Given the description of an element on the screen output the (x, y) to click on. 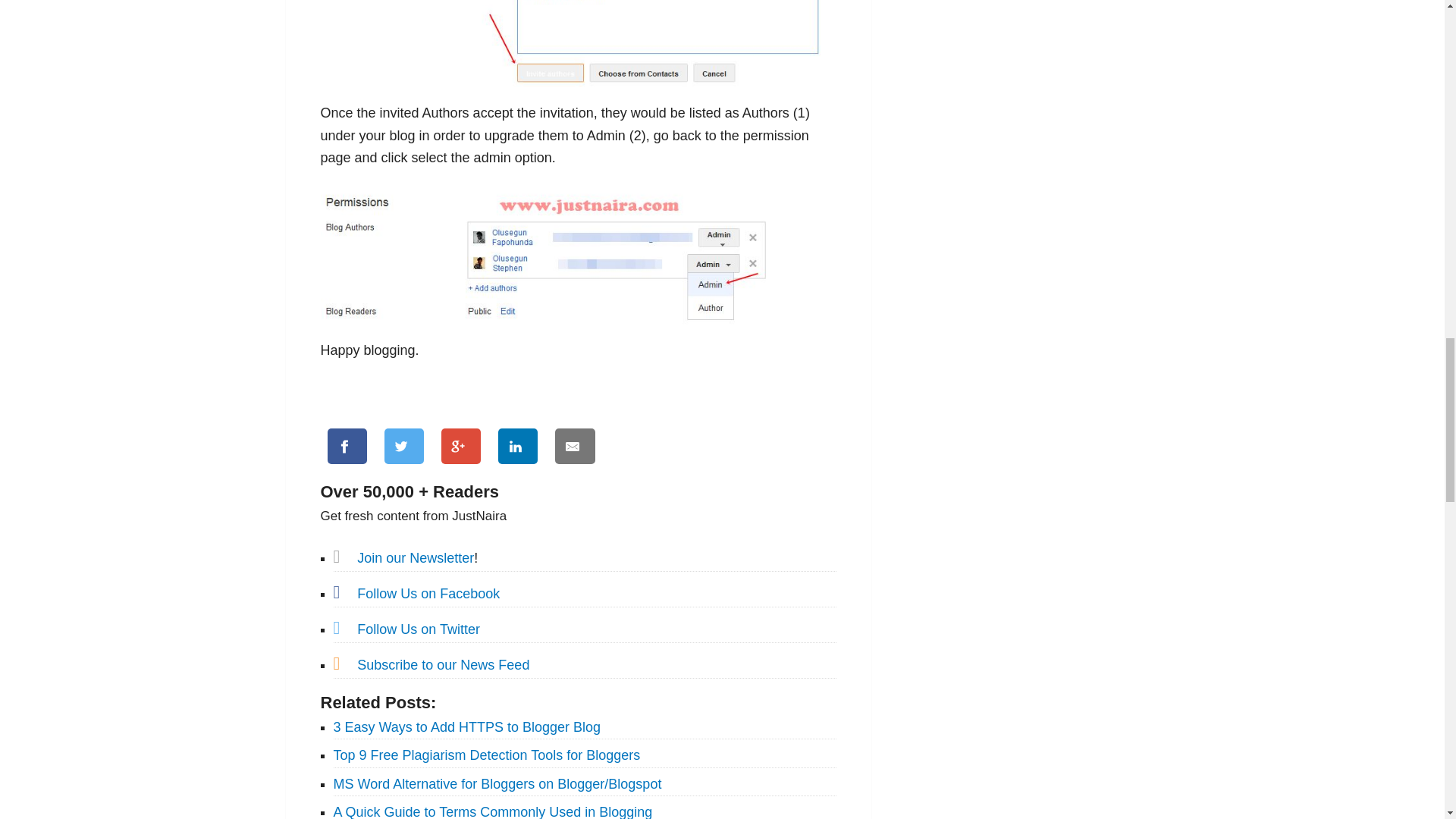
Tweet this! (403, 446)
3 Easy Ways to Add HTTPS to Blogger Blog (467, 726)
Share on Facebook! (346, 446)
Top 9 Free Plagiarism Detection Tools for Bloggers (486, 754)
Join our Newsletter (415, 557)
A Quick Guide to Terms Commonly Used in Blogging (492, 811)
